Given the description of an element on the screen output the (x, y) to click on. 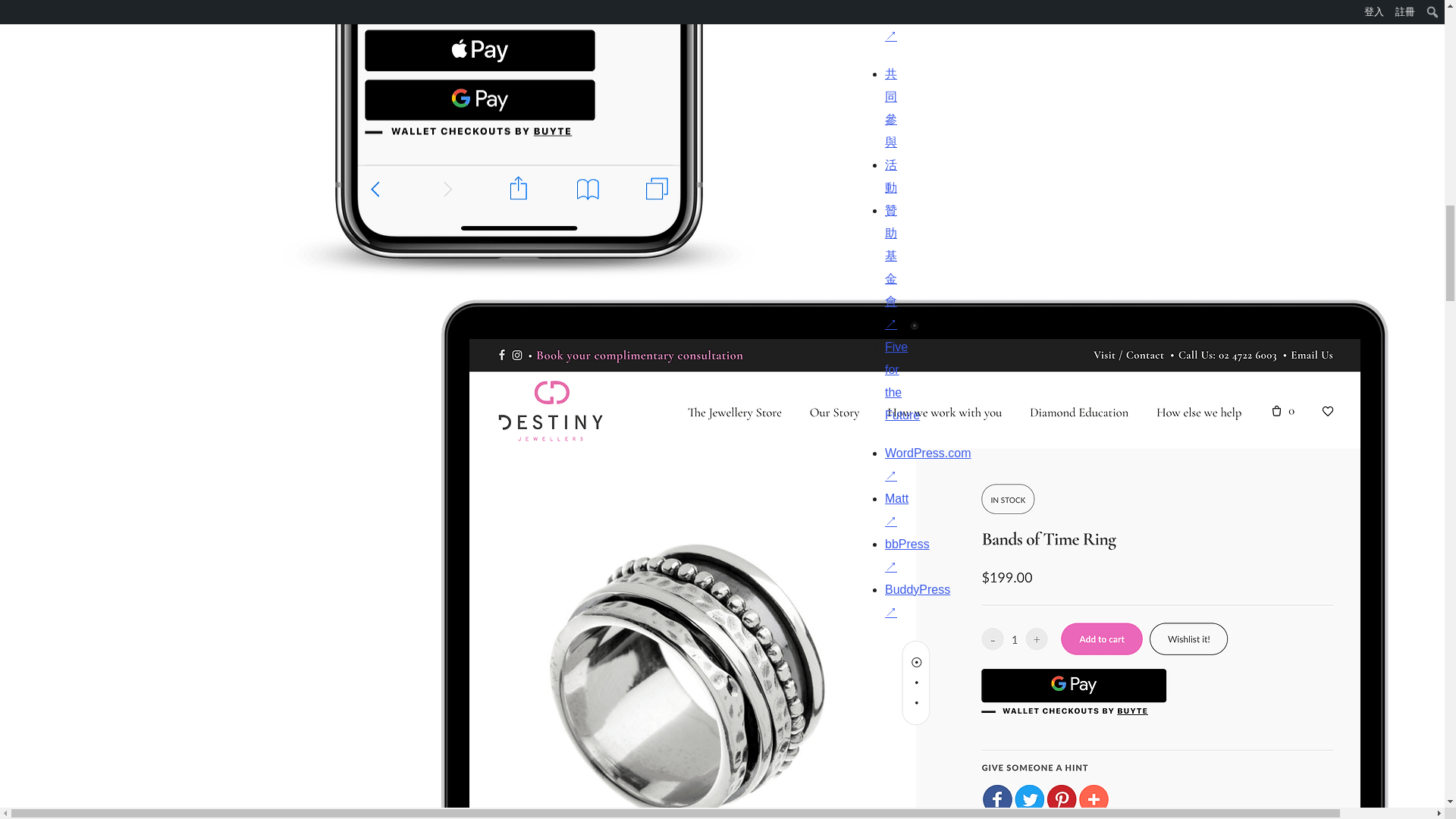
WordPress.org (864, 643)
WordPress.org (1014, 643)
